Given the description of an element on the screen output the (x, y) to click on. 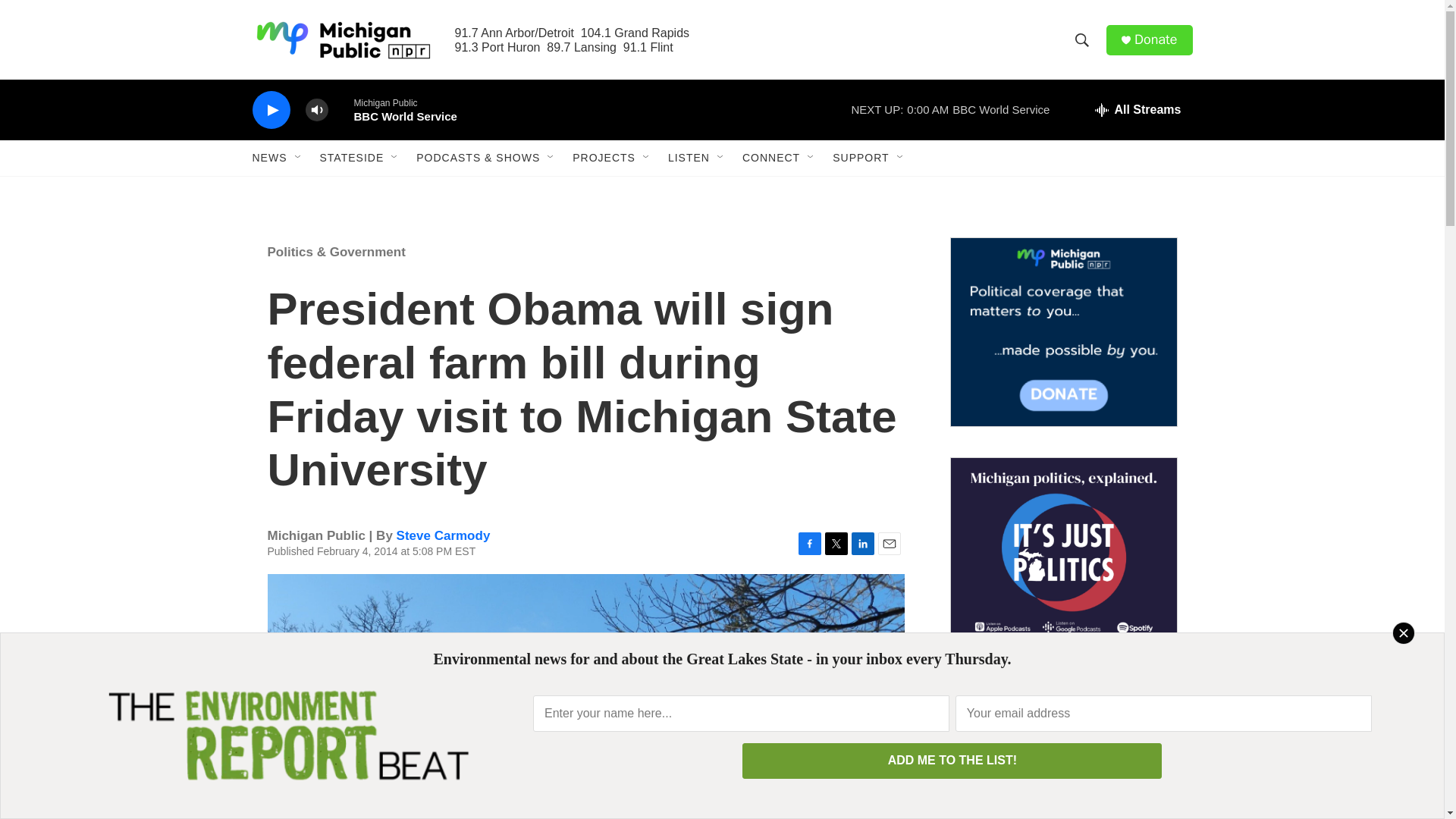
Close (1403, 632)
3rd party ad content (1062, 748)
ADD ME TO THE LIST! (951, 760)
